Given the description of an element on the screen output the (x, y) to click on. 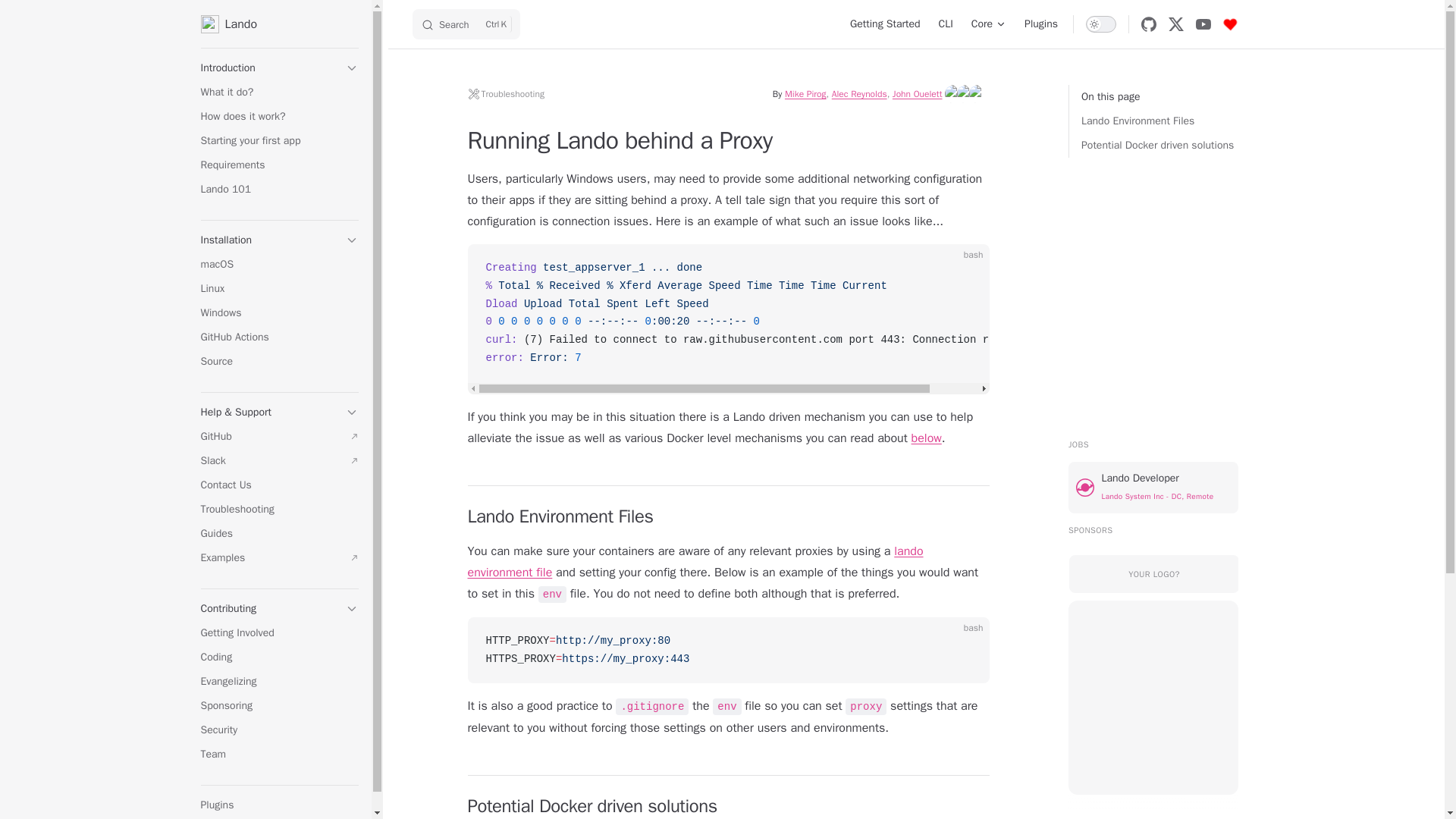
Core (988, 24)
Lando Environment Files (1160, 120)
Lando (279, 24)
Potential Docker driven solutions (465, 24)
Plugins (1160, 145)
Switch to dark theme (1040, 24)
Skip to content (1101, 23)
Getting Started (23, 16)
